Given the description of an element on the screen output the (x, y) to click on. 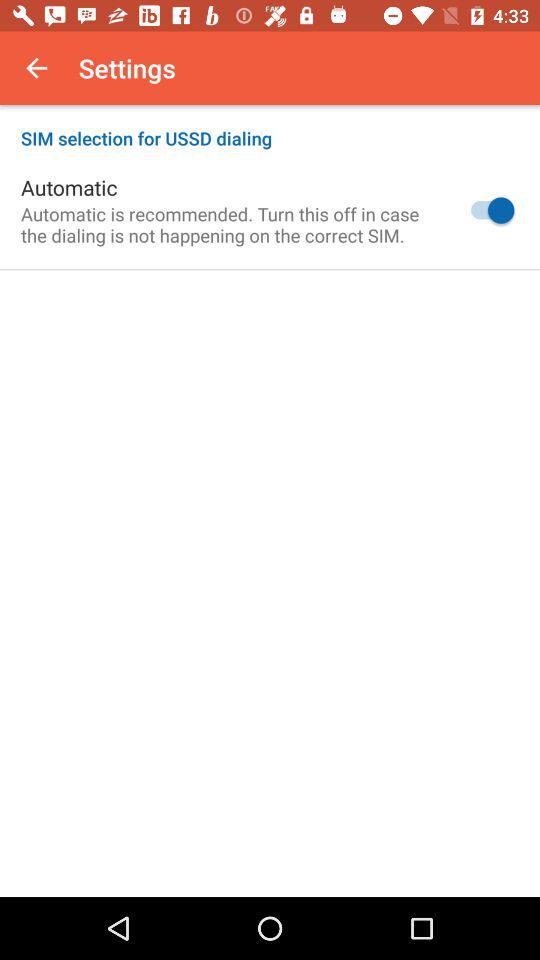
click icon below the automatic icon (228, 224)
